Given the description of an element on the screen output the (x, y) to click on. 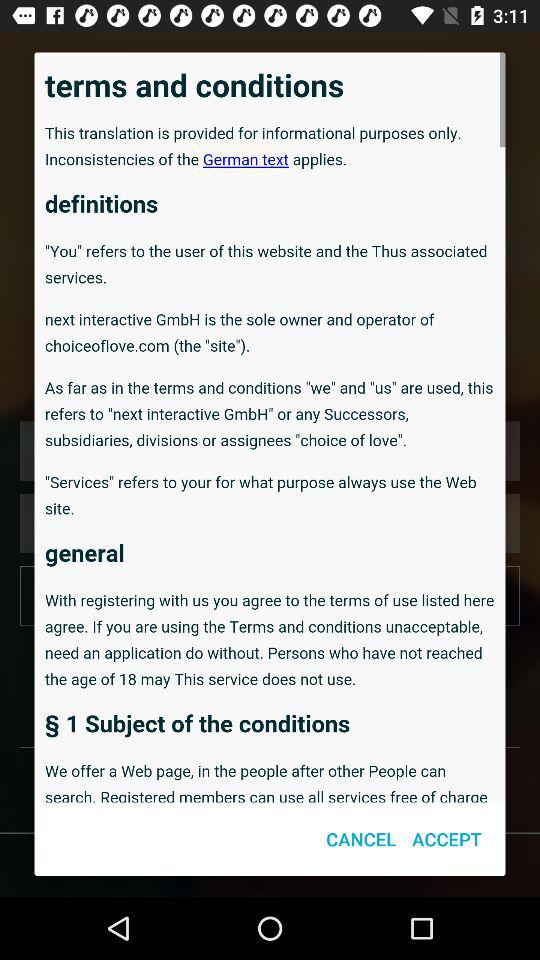
advertisement page (269, 427)
